Given the description of an element on the screen output the (x, y) to click on. 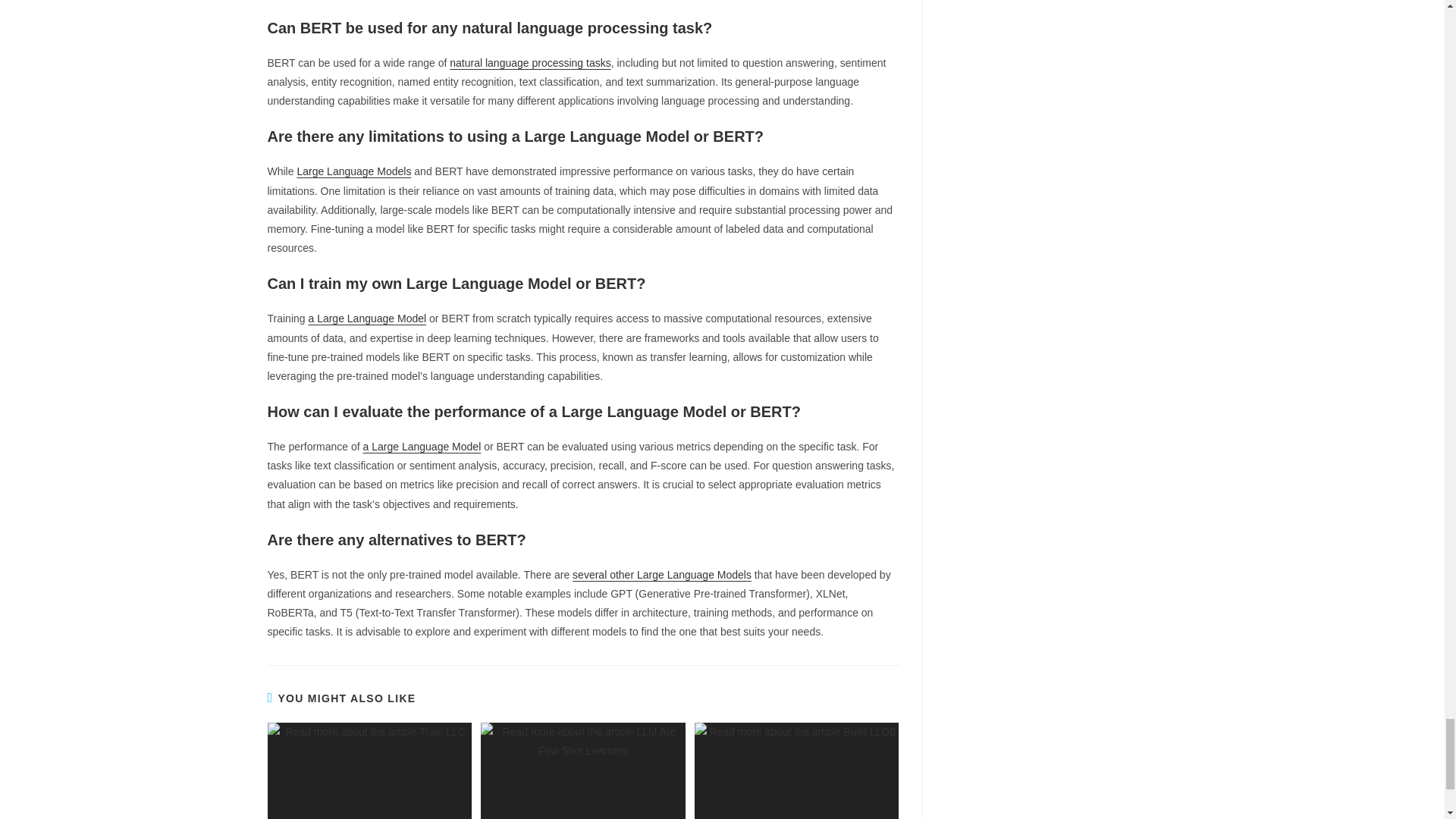
several other Large Language Models (661, 574)
natural language processing tasks (529, 62)
Large Language Models (353, 171)
a Large Language Model (421, 446)
a Large Language Model (366, 318)
